Given the description of an element on the screen output the (x, y) to click on. 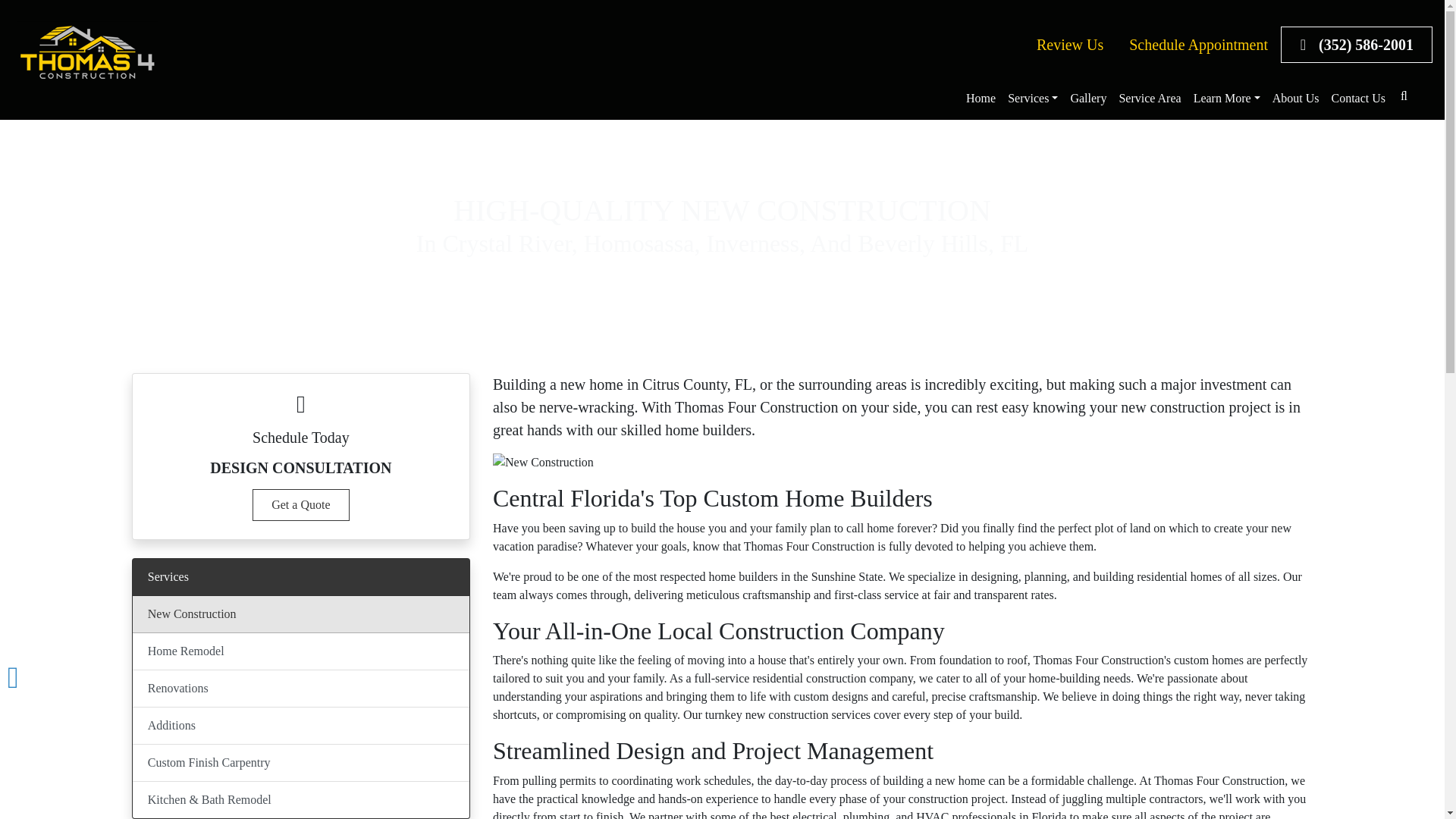
Custom Finish Carpentry (300, 763)
Learn More (1227, 98)
Home (980, 98)
Get a Quote (300, 504)
Gallery (1088, 98)
Review Us (1069, 44)
About Us (1295, 98)
Home Remodel (300, 651)
New Construction (300, 614)
Renovations (300, 688)
Additions (300, 725)
Services (1032, 98)
Contact Us (1357, 98)
Schedule Appointment (1198, 44)
Service Area (1149, 98)
